Given the description of an element on the screen output the (x, y) to click on. 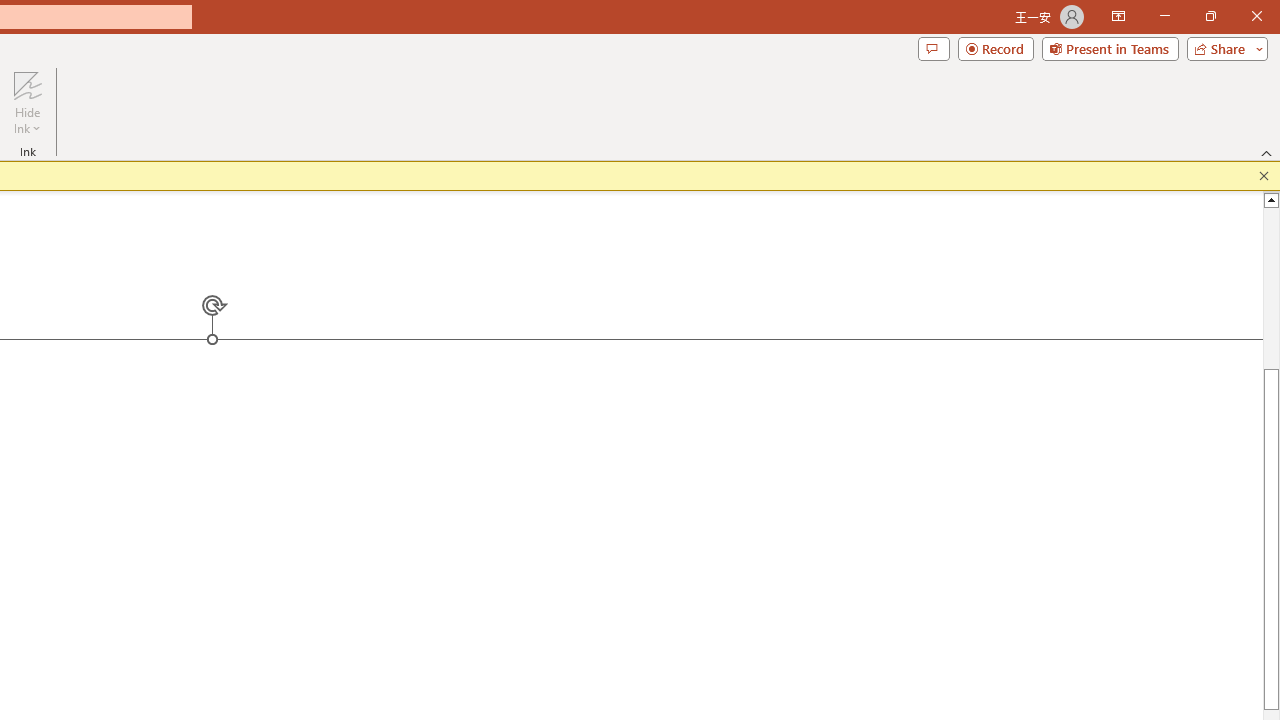
Close this message (1263, 176)
